Given the description of an element on the screen output the (x, y) to click on. 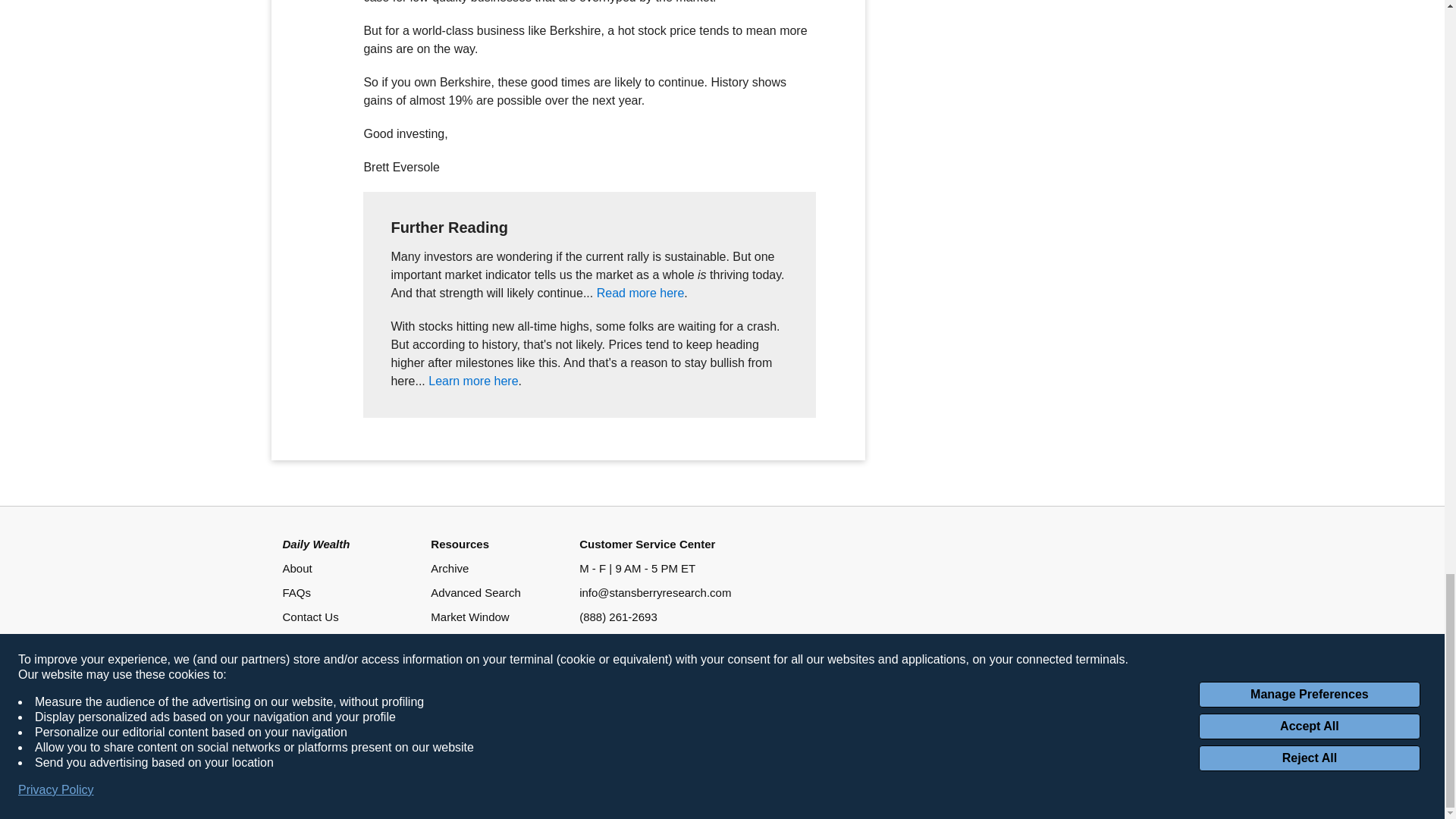
Read more here (640, 292)
Learn more here (473, 380)
